Given the description of an element on the screen output the (x, y) to click on. 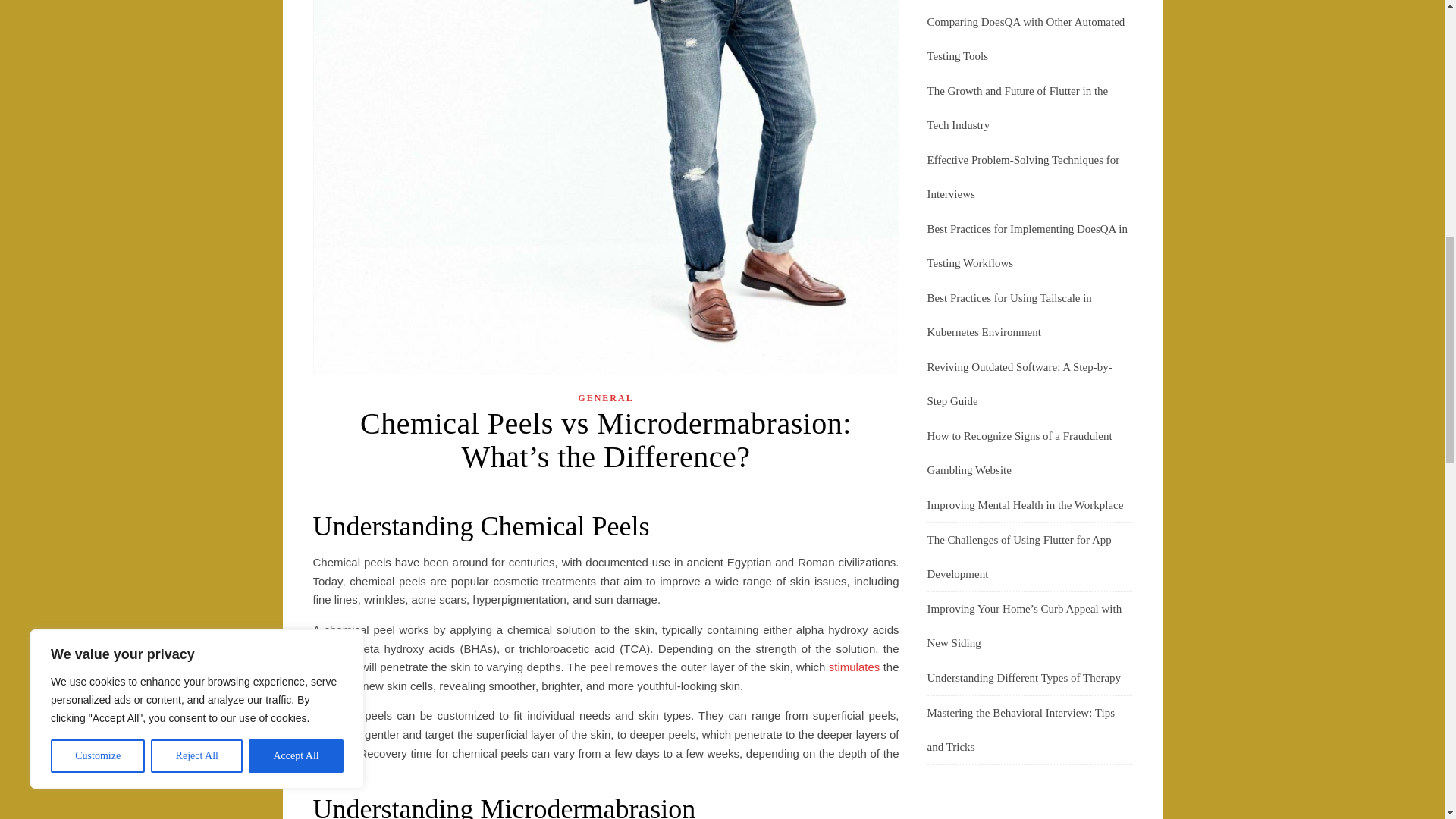
GENERAL (605, 398)
stimulates (854, 666)
